Given the description of an element on the screen output the (x, y) to click on. 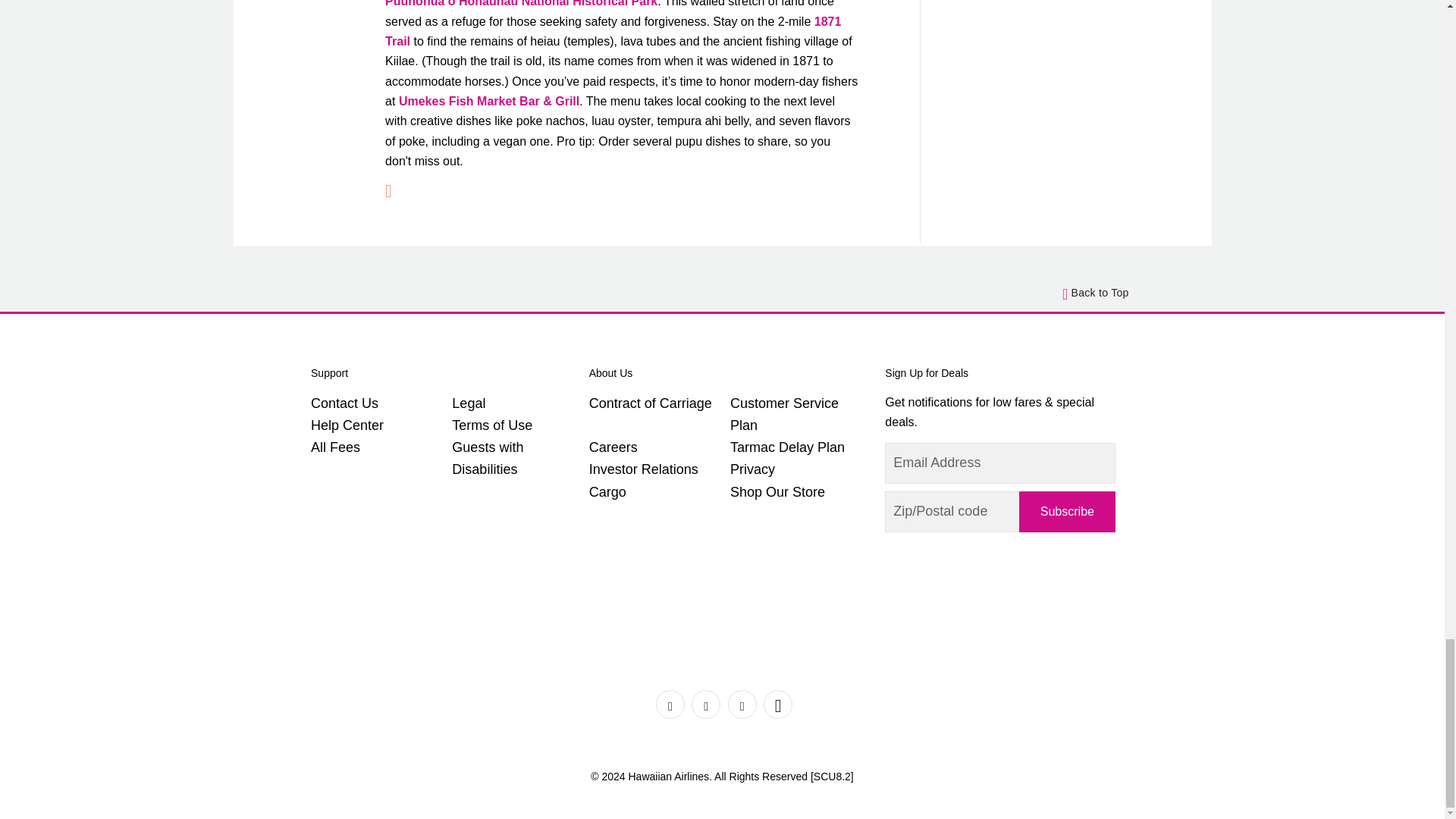
Visit us on Instagram (742, 704)
Visit us on YouTube (777, 704)
Visit us on Twitter (705, 704)
Visit us on Facebook (670, 704)
